Given the description of an element on the screen output the (x, y) to click on. 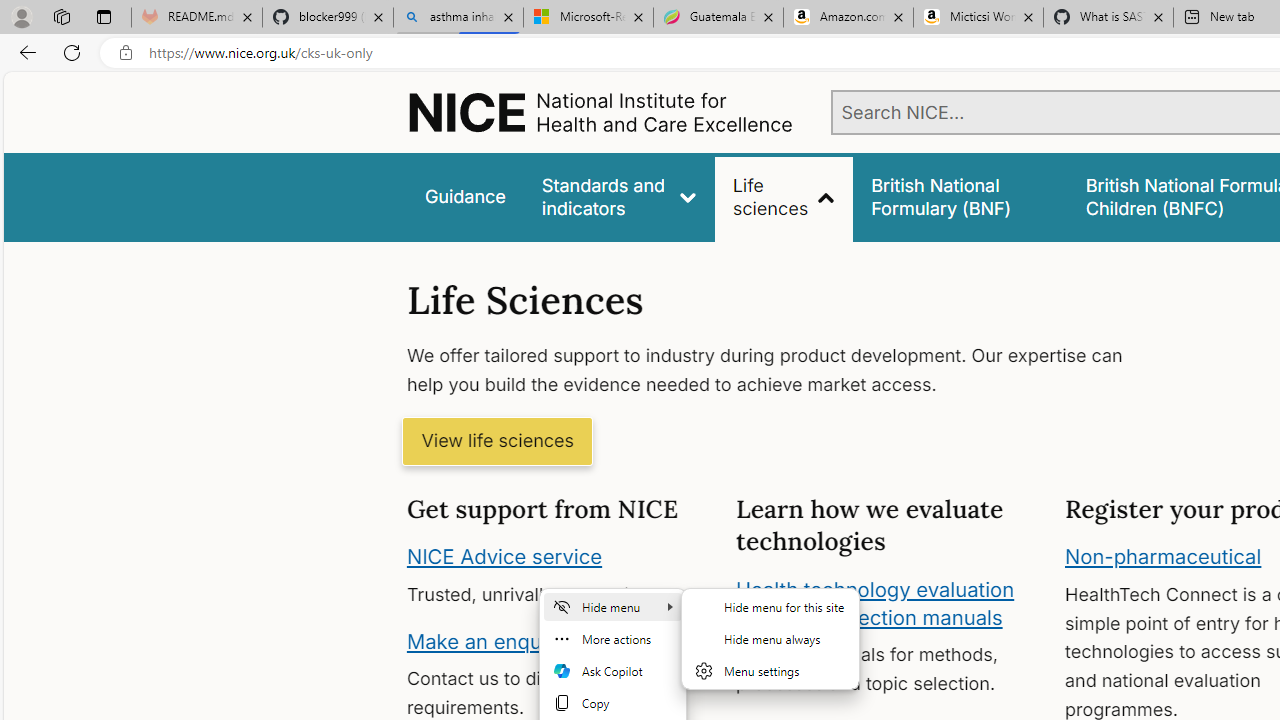
Hide menu (613, 606)
Hide menu always (770, 638)
false (959, 196)
